Given the description of an element on the screen output the (x, y) to click on. 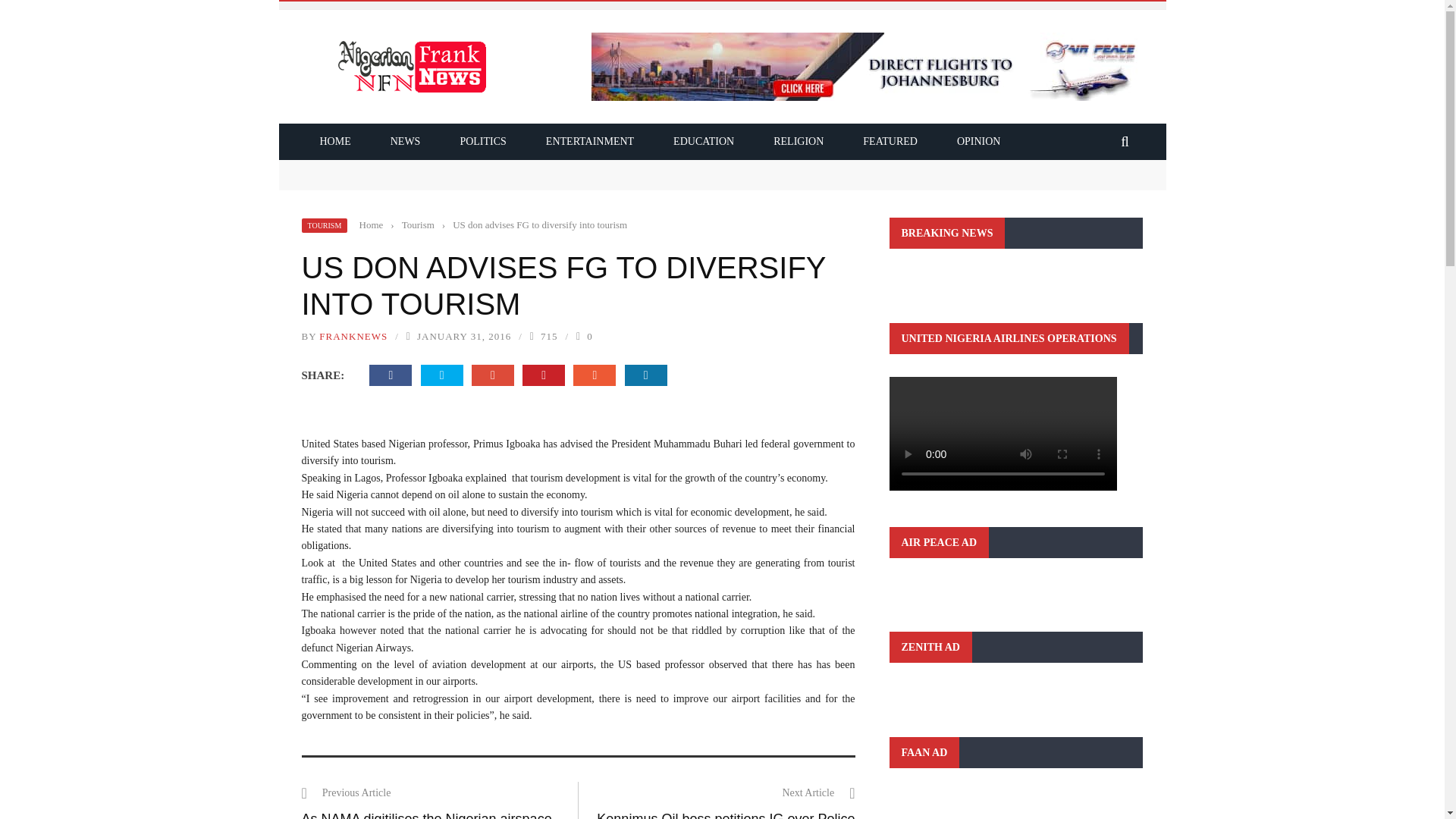
As NAMA digitilises the Nigerian airspace (426, 815)
HOME (335, 141)
Kennimus Oil boss petitions IG over Police handling ... (725, 815)
TOURISM (324, 225)
RELIGION (798, 141)
EDUCATION (703, 141)
Tourism (417, 224)
FRANKNEWS (352, 336)
NEWS (405, 141)
ENTERTAINMENT (589, 141)
